Given the description of an element on the screen output the (x, y) to click on. 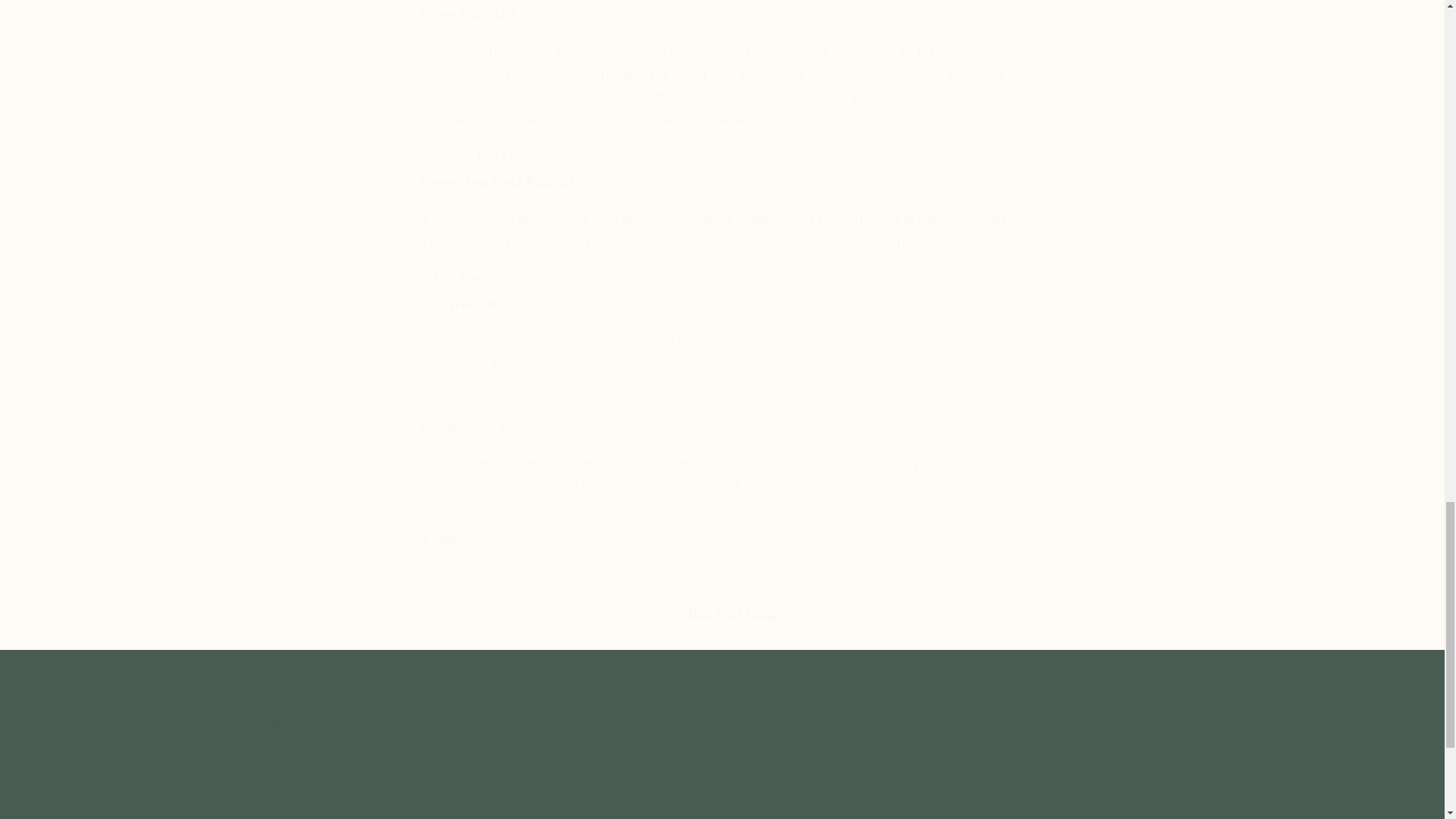
Facebook (977, 774)
YouTube (1050, 774)
About Natural Tone Skincare (1074, 770)
Instagram (580, 770)
Frequently Asked Questions (1013, 774)
Share (578, 815)
